Given the description of an element on the screen output the (x, y) to click on. 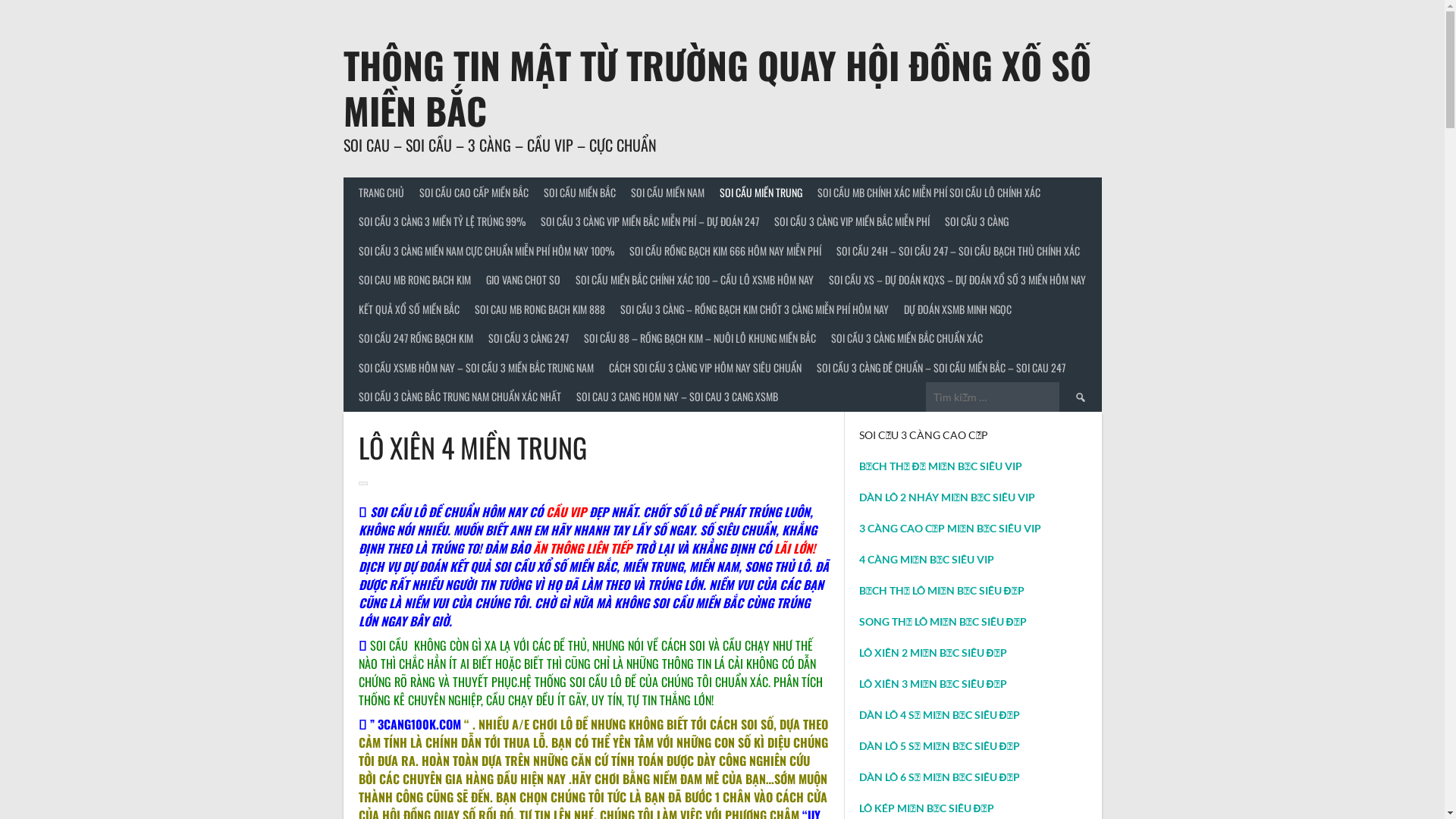
SOI CAU MB RONG BACH KIM Element type: text (413, 279)
SOI CAU MB RONG BACH KIM 888 Element type: text (539, 308)
GIO VANG CHOT SO Element type: text (522, 279)
